Given the description of an element on the screen output the (x, y) to click on. 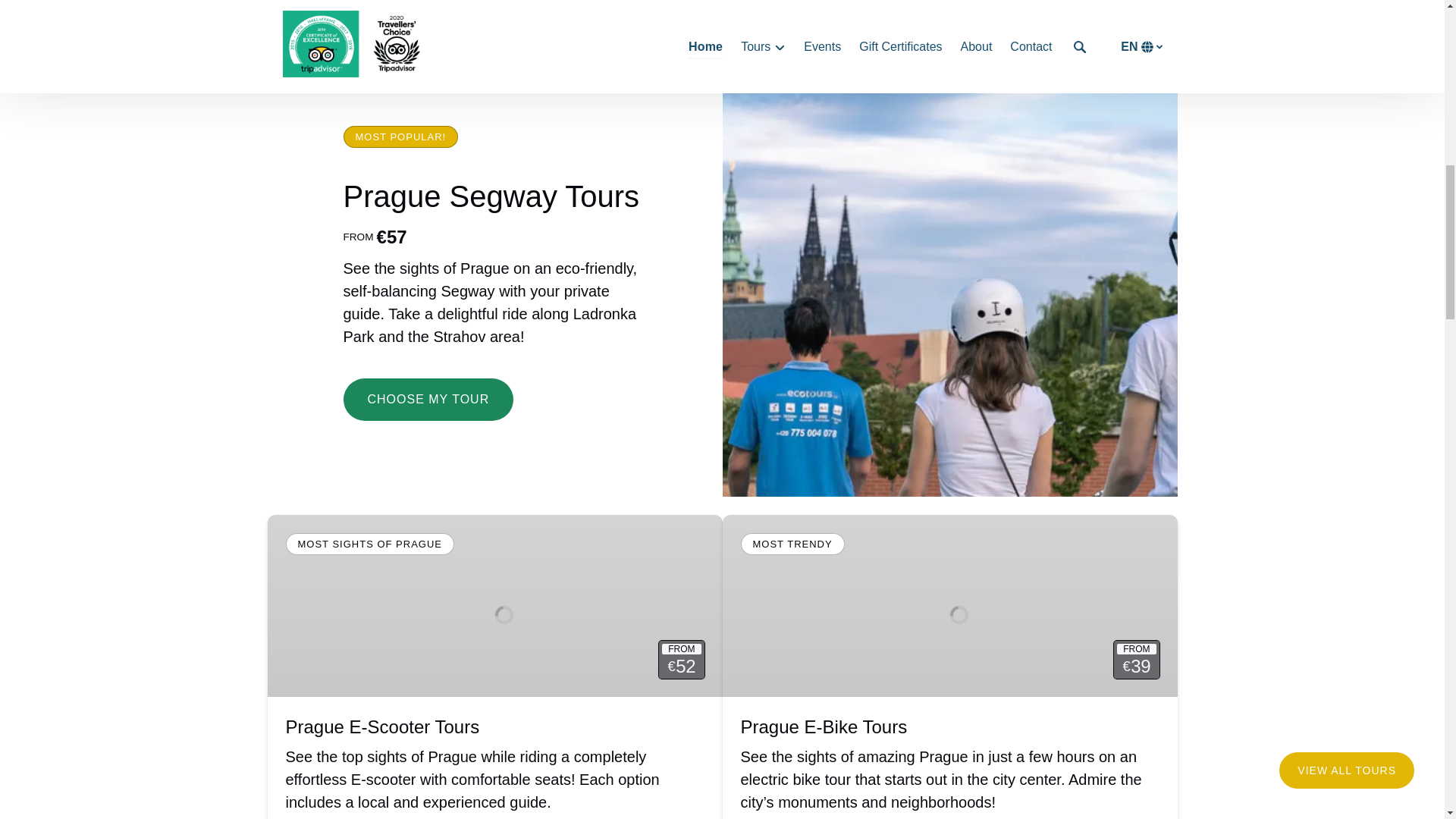
Prague E-Scooter Tours (382, 726)
Click here to visit Prague Segway Tours (490, 195)
Prague E-Bike Tours (823, 726)
FareHarbor (1342, 64)
CHOOSE MY TOUR (427, 386)
Prague Segway Tours (490, 195)
